Given the description of an element on the screen output the (x, y) to click on. 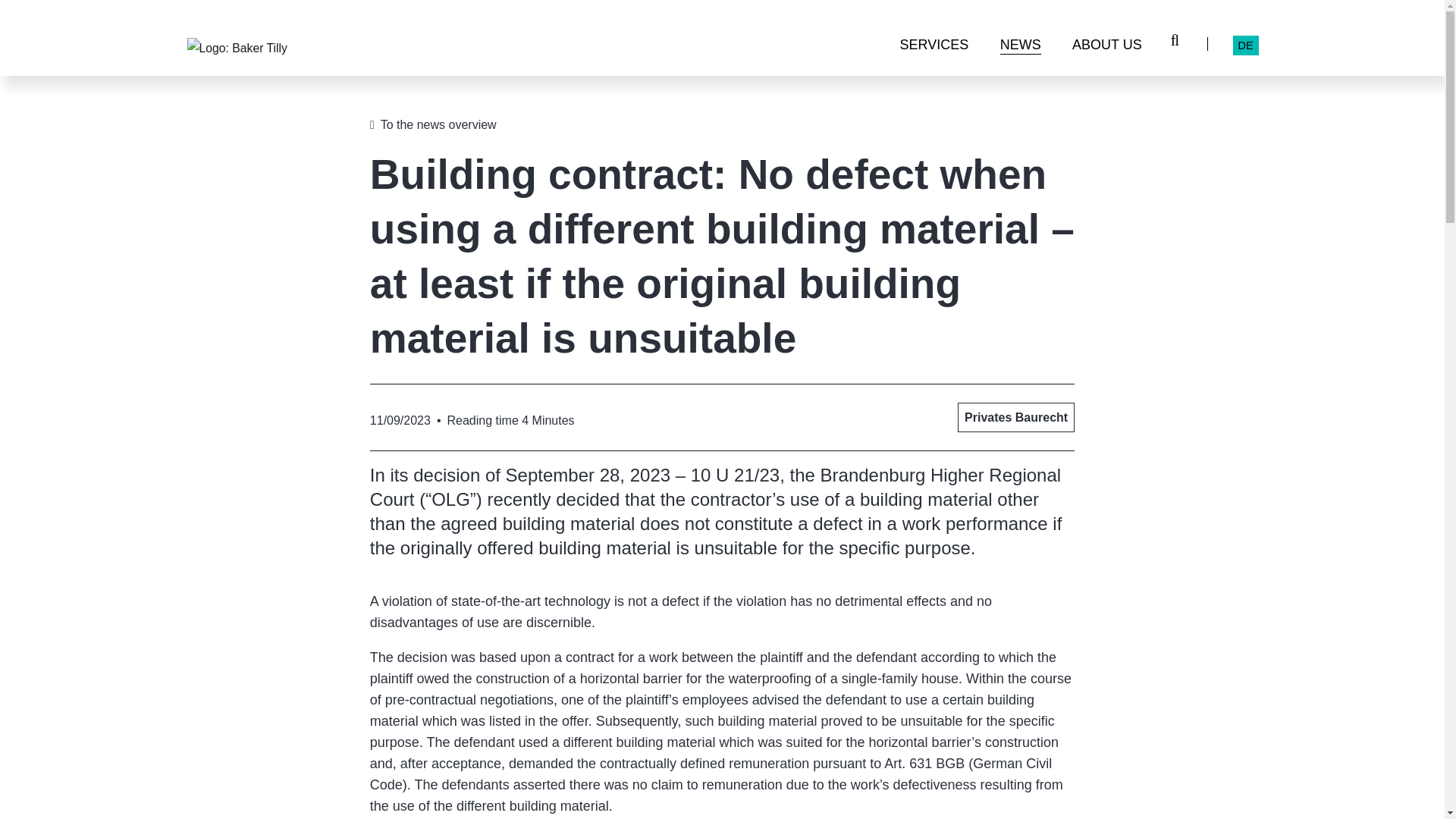
Baker Tilly (236, 48)
SERVICES (934, 51)
Services (934, 51)
